Given the description of an element on the screen output the (x, y) to click on. 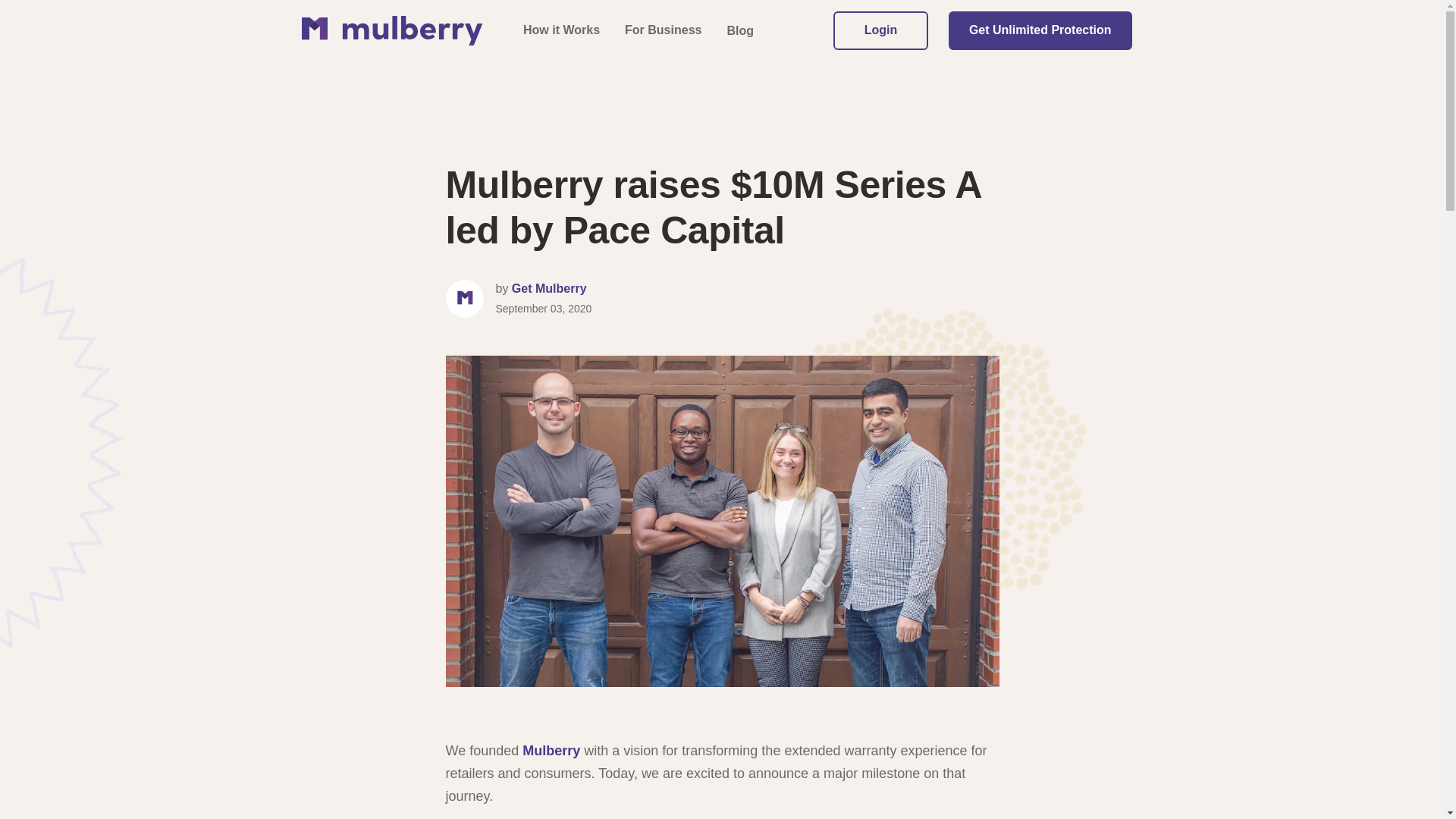
Mulberry (550, 750)
Get Unlimited Protection (1040, 30)
For Business (662, 29)
Get Mulberry (549, 287)
Login (880, 30)
How it Works (560, 29)
Blog (740, 30)
mulberry-logo (391, 30)
